Given the description of an element on the screen output the (x, y) to click on. 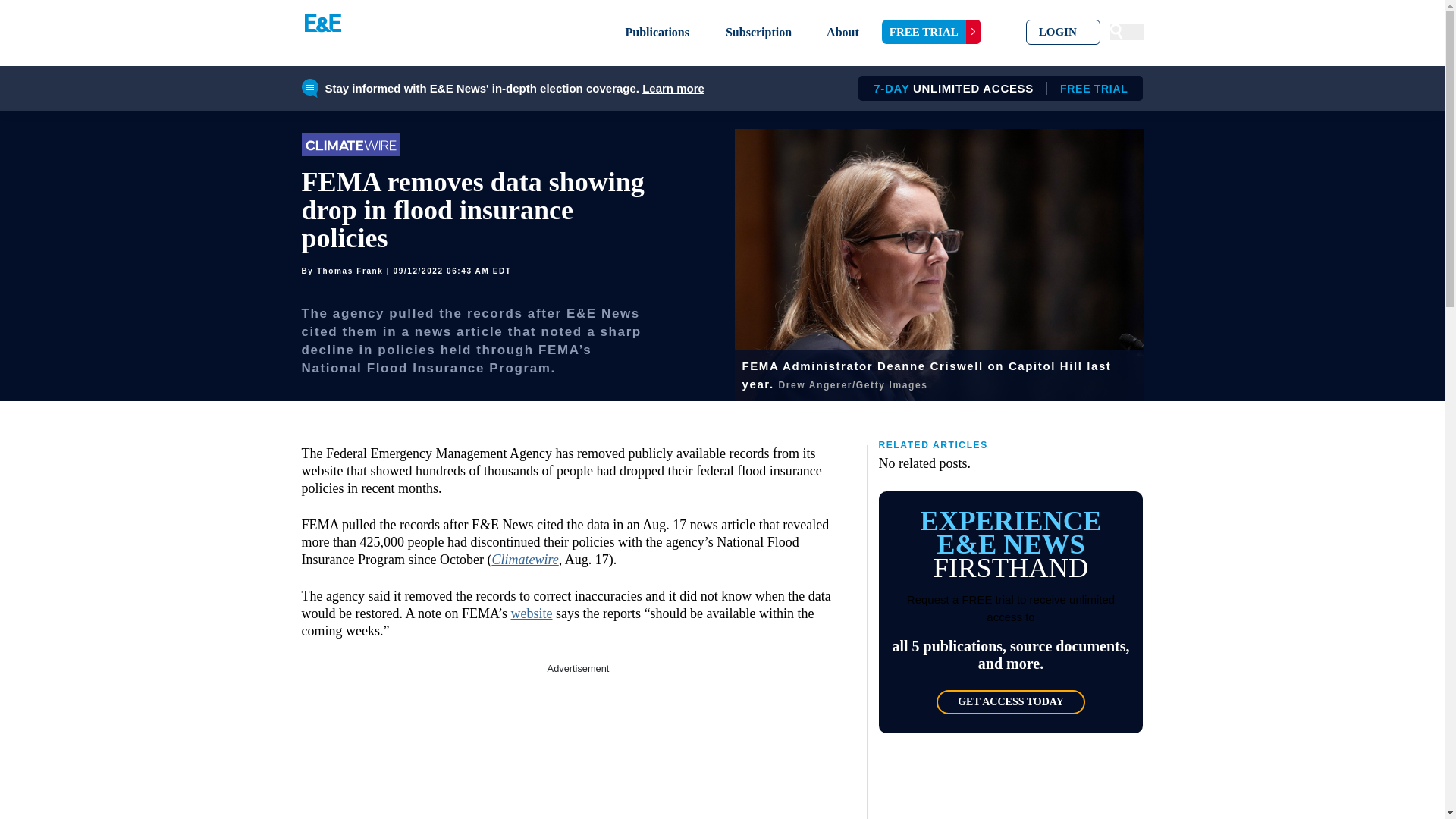
Climatewire (524, 559)
Learn more (673, 88)
GET ACCESS TODAY (1010, 702)
FREE TRIAL (930, 31)
About (843, 32)
LOGIN (1063, 32)
website (532, 613)
Publications (656, 32)
Subscription (758, 32)
